Given the description of an element on the screen output the (x, y) to click on. 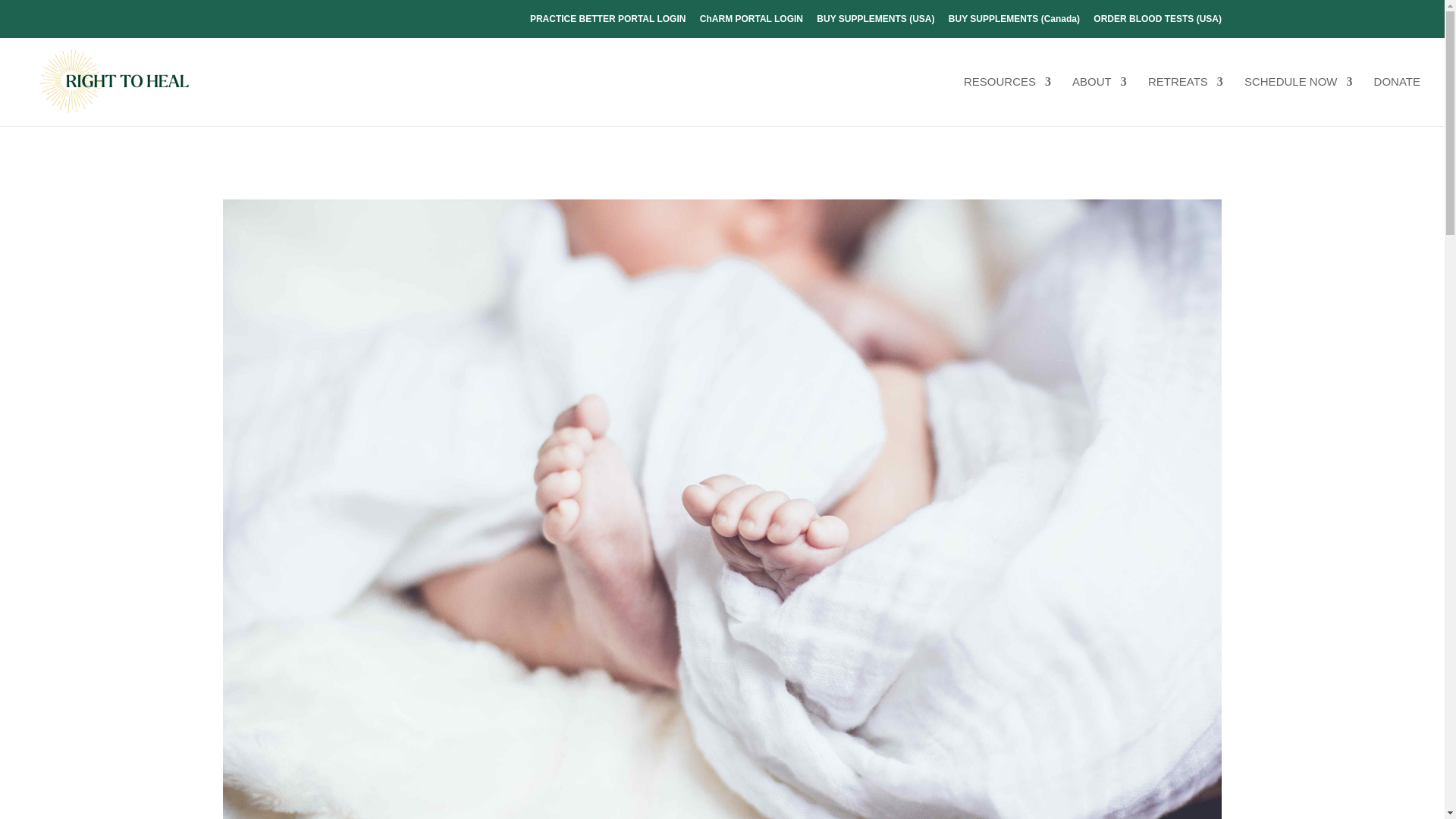
RESOURCES (1007, 96)
SCHEDULE NOW (1298, 96)
DONATE (1397, 96)
PRACTICE BETTER PORTAL LOGIN (607, 22)
ChARM PORTAL LOGIN (751, 22)
RETREATS (1185, 96)
ABOUT (1098, 96)
